Given the description of an element on the screen output the (x, y) to click on. 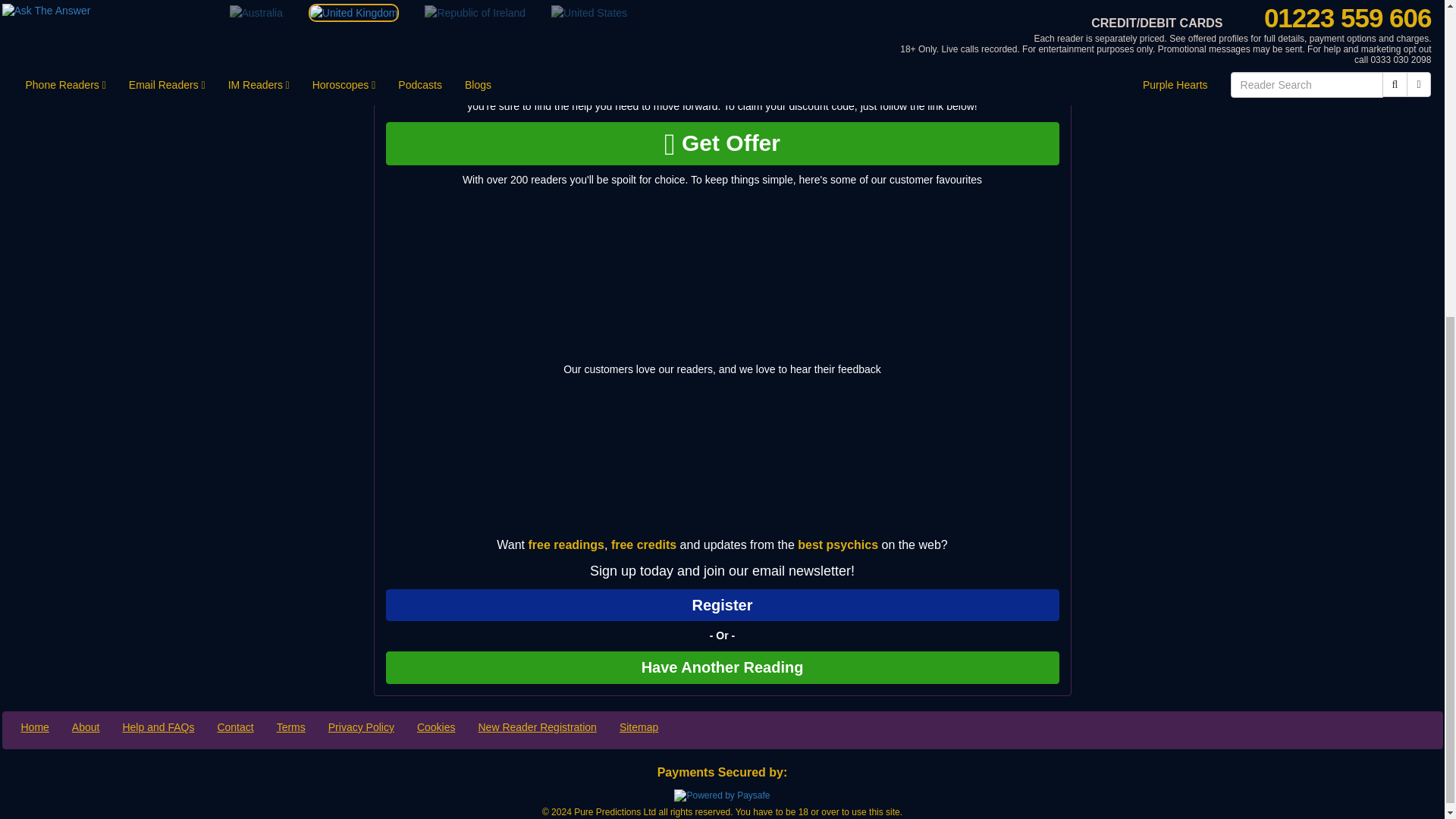
Have Another Reading (721, 667)
